Given the description of an element on the screen output the (x, y) to click on. 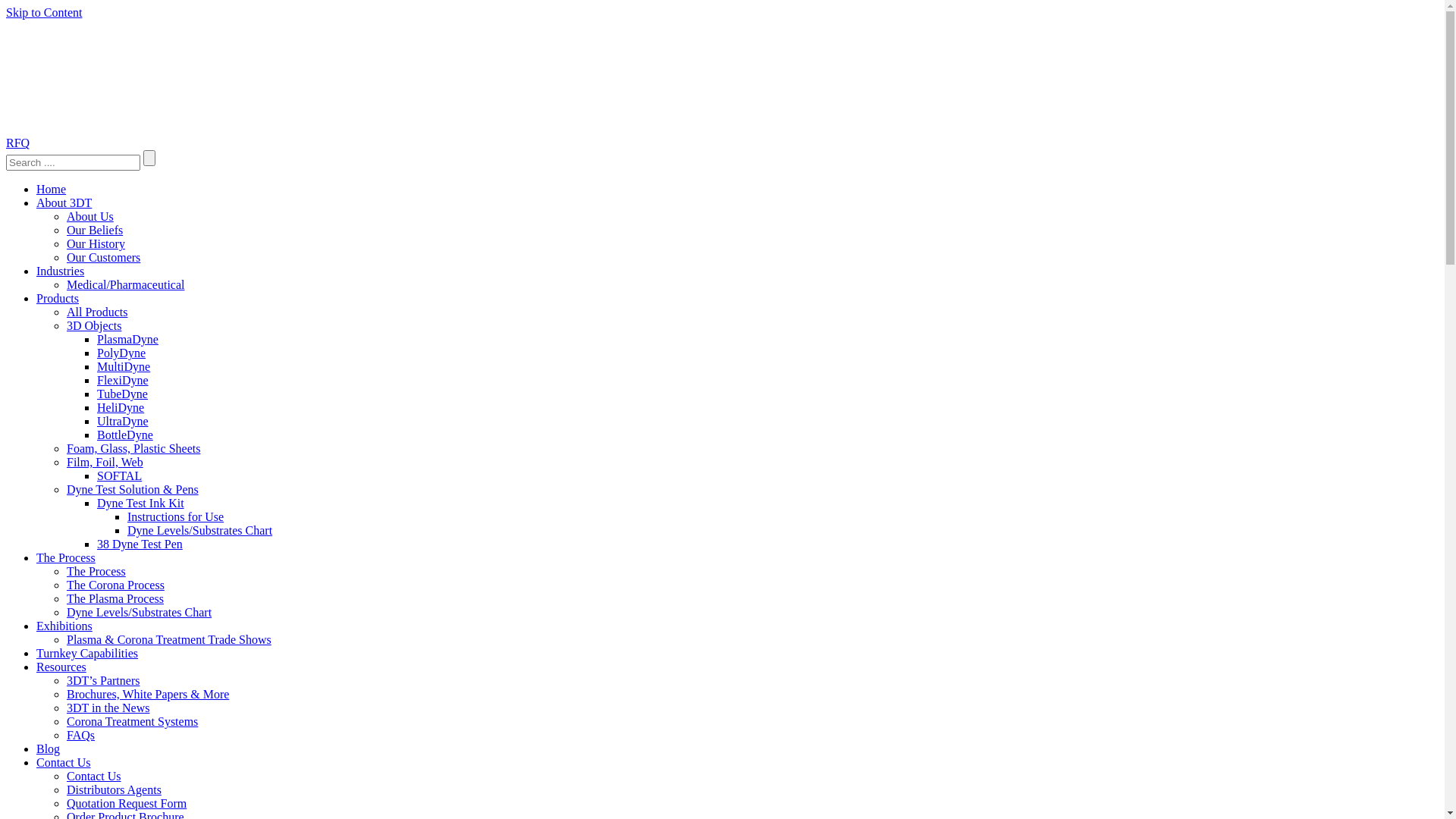
About 3DT Element type: text (63, 202)
Search Element type: hover (73, 162)
3D Objects Element type: text (93, 325)
Turnkey Capabilities Element type: text (87, 652)
Industries Element type: text (60, 270)
Contact Us Element type: text (63, 762)
Instructions for Use Element type: text (175, 516)
Quotation Request Form Element type: text (126, 803)
Search Element type: hover (149, 158)
Contact Us Element type: text (93, 775)
About Us Element type: text (89, 216)
Exhibitions Element type: text (64, 625)
FlexiDyne Element type: text (122, 379)
38 Dyne Test Pen Element type: text (139, 543)
Brochures, White Papers & More Element type: text (147, 693)
PolyDyne Element type: text (121, 352)
The Plasma Process Element type: text (114, 598)
Our Beliefs Element type: text (94, 229)
Corona Treatment Systems Element type: text (131, 721)
TubeDyne Element type: text (122, 393)
Film, Foil, Web Element type: text (104, 461)
3DT in the News Element type: text (107, 707)
Dyne Levels/Substrates Chart Element type: text (199, 530)
The Process Element type: text (95, 570)
Skip to Content Element type: text (43, 12)
BottleDyne Element type: text (125, 434)
HeliDyne Element type: text (120, 407)
Our History Element type: text (95, 243)
Dyne Test Solution & Pens Element type: text (132, 489)
Home Element type: text (50, 188)
Blog Element type: text (47, 748)
Plasma & Corona Treatment Trade Shows Element type: text (168, 639)
Dyne Test Ink Kit Element type: text (140, 502)
The Corona Process Element type: text (115, 584)
Medical/Pharmaceutical Element type: text (125, 284)
RFQ Element type: text (17, 142)
The Process Element type: text (65, 557)
Resources Element type: text (61, 666)
Dyne Levels/Substrates Chart Element type: text (138, 611)
SOFTAL Element type: text (119, 475)
Our Customers Element type: text (103, 257)
3DT LLC Element type: hover (119, 76)
Foam, Glass, Plastic Sheets Element type: text (133, 448)
MultiDyne Element type: text (123, 366)
Products Element type: text (57, 297)
UltraDyne Element type: text (122, 420)
All Products Element type: text (96, 311)
Distributors Agents Element type: text (113, 789)
FAQs Element type: text (80, 734)
PlasmaDyne Element type: text (127, 338)
